Given the description of an element on the screen output the (x, y) to click on. 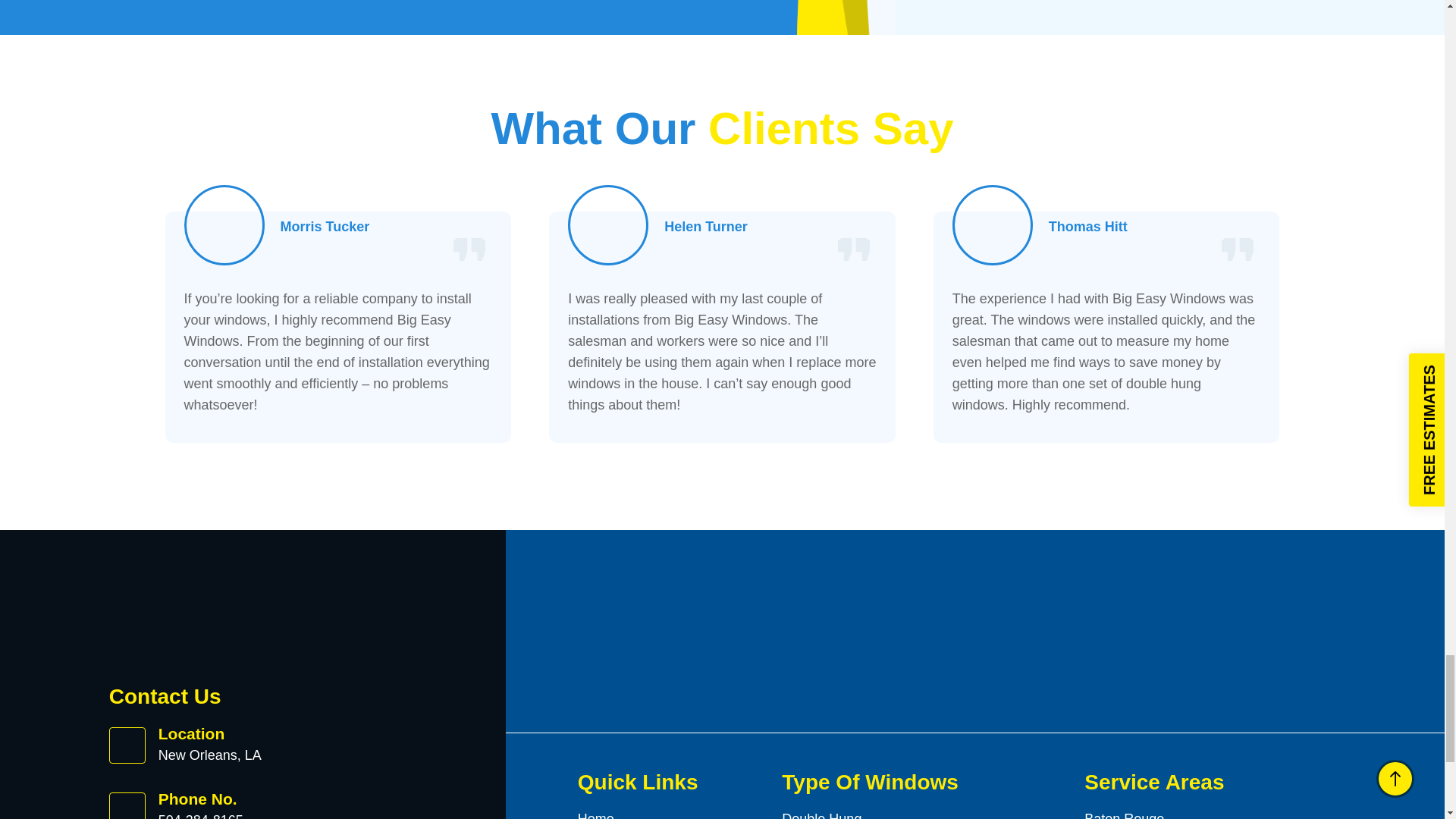
Untitled (224, 224)
map (1164, 4)
Untitled (992, 224)
Untitled (608, 224)
footer-logo (208, 618)
